Given the description of an element on the screen output the (x, y) to click on. 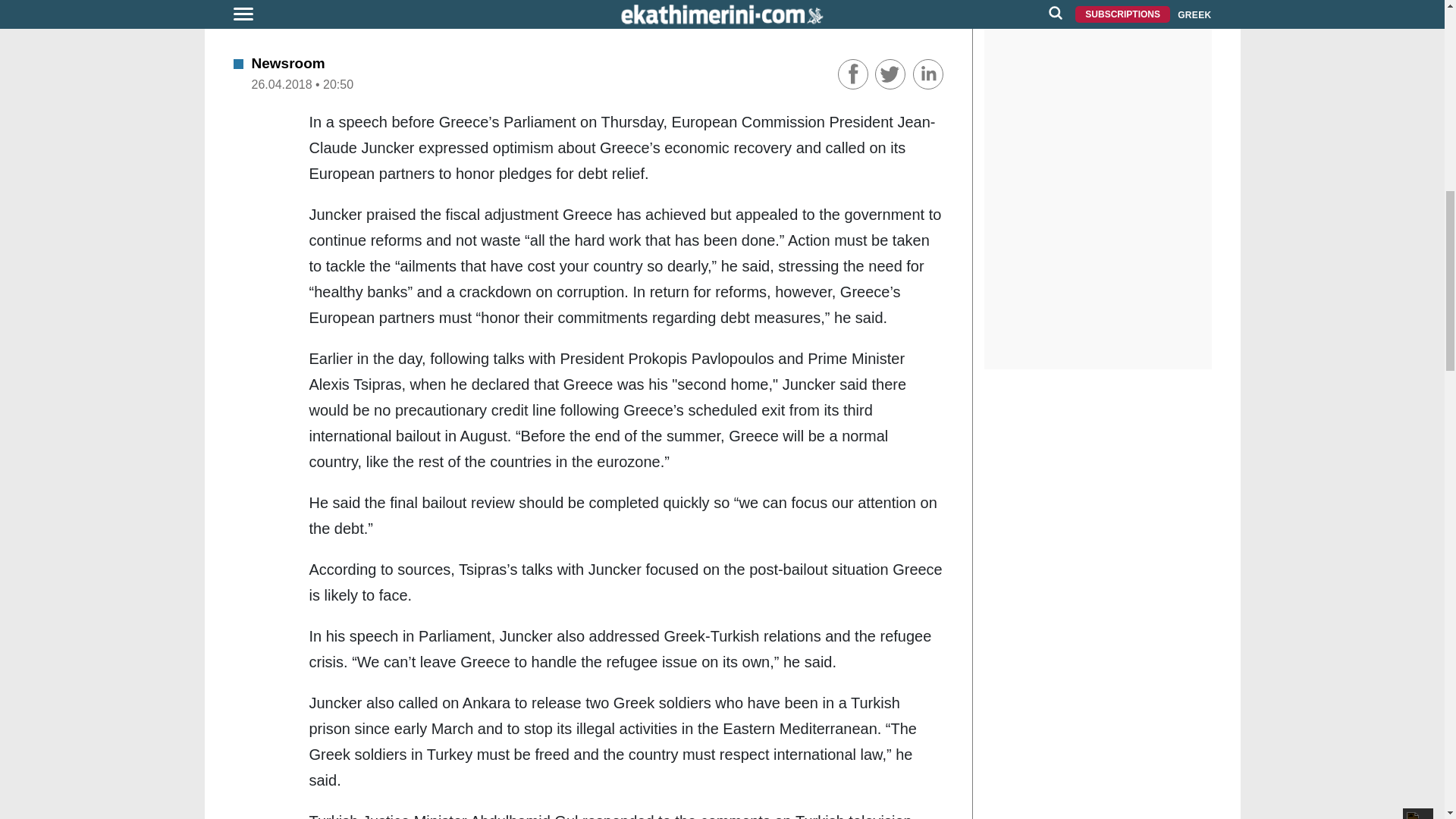
View all posts by Newsroom (287, 63)
